Given the description of an element on the screen output the (x, y) to click on. 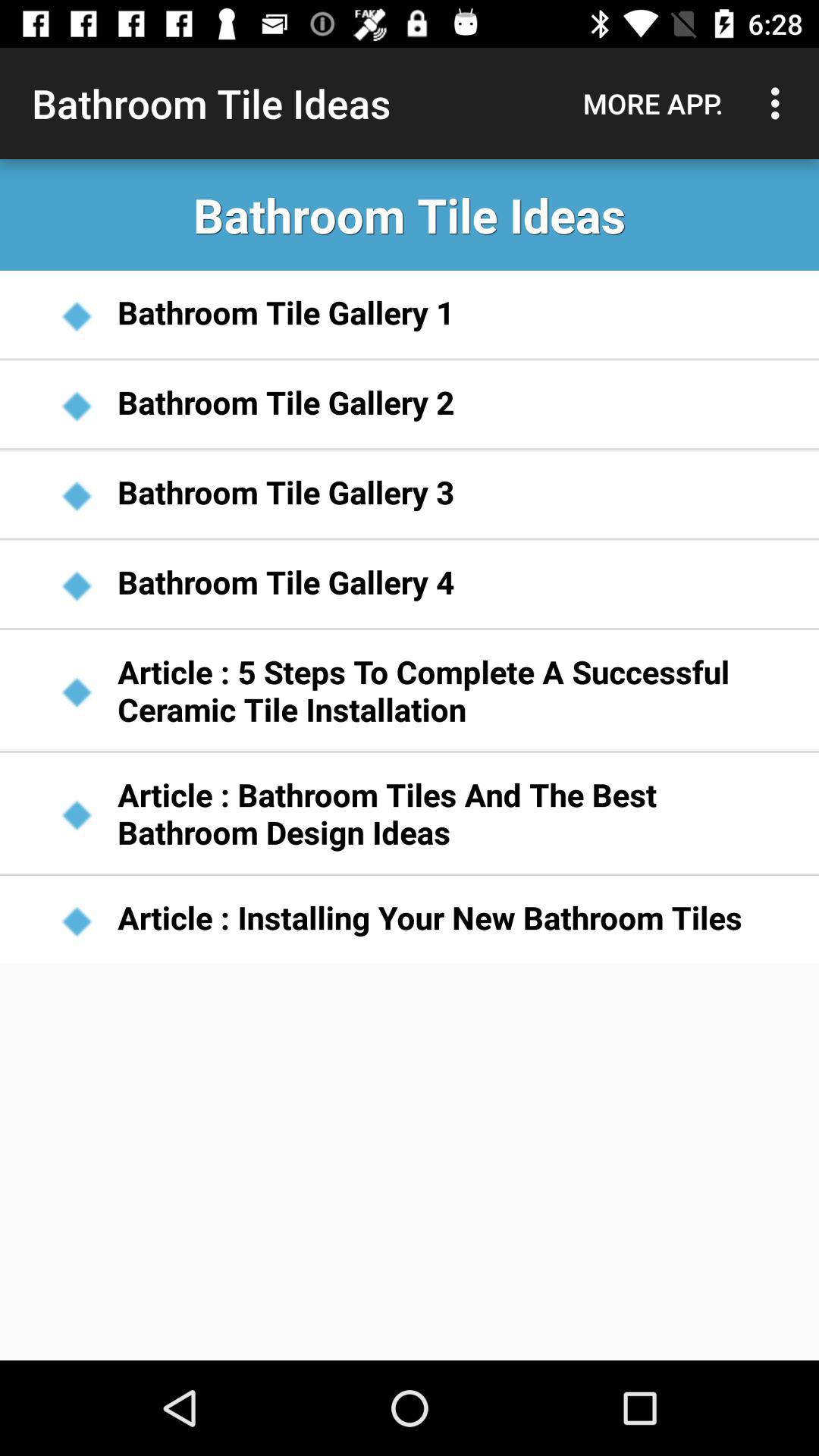
tap icon next to more app. (779, 103)
